Given the description of an element on the screen output the (x, y) to click on. 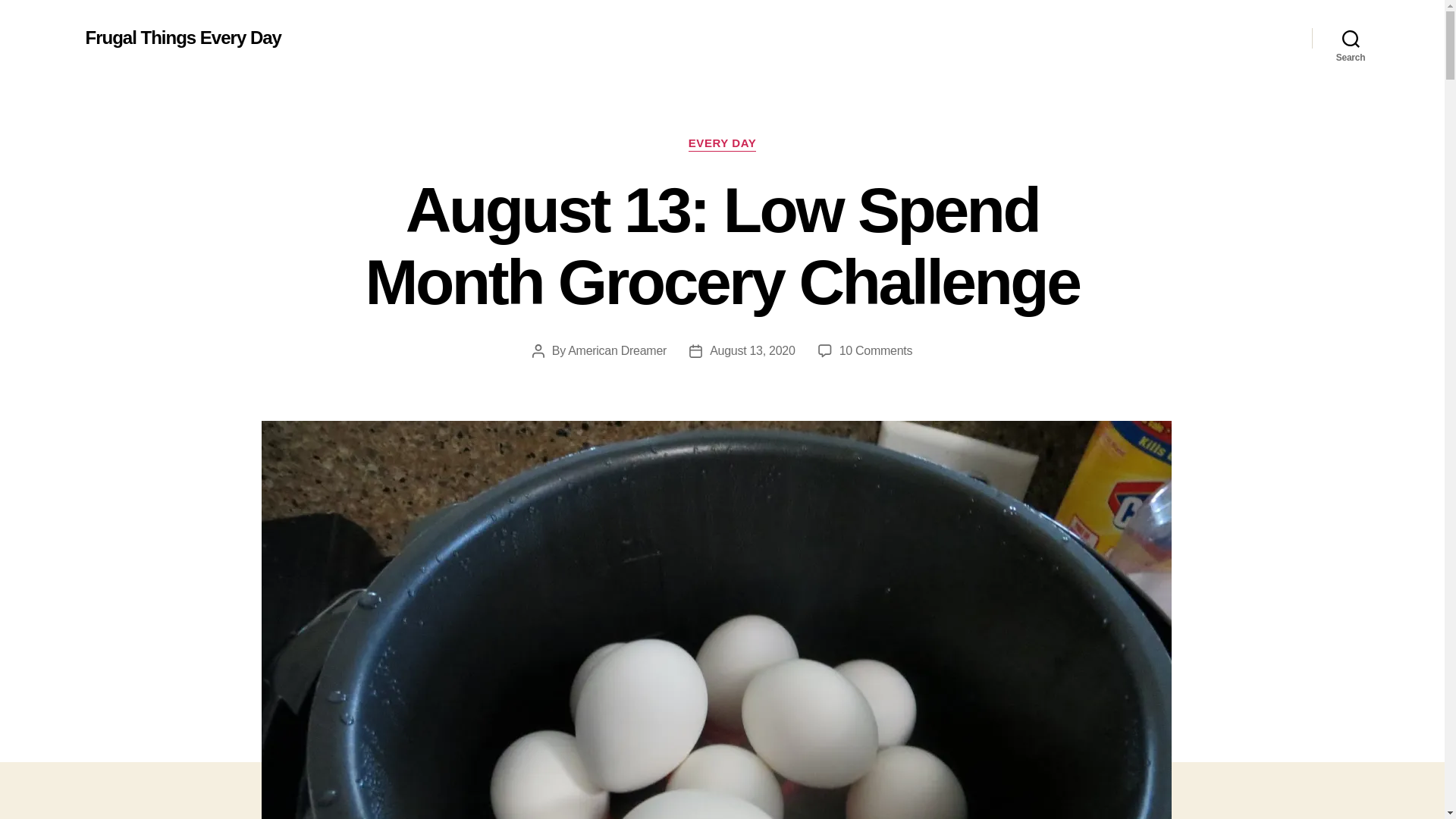
EVERY DAY (721, 143)
Frugal Things Every Day (182, 37)
American Dreamer (616, 350)
Search (1350, 37)
August 13, 2020 (876, 350)
